Given the description of an element on the screen output the (x, y) to click on. 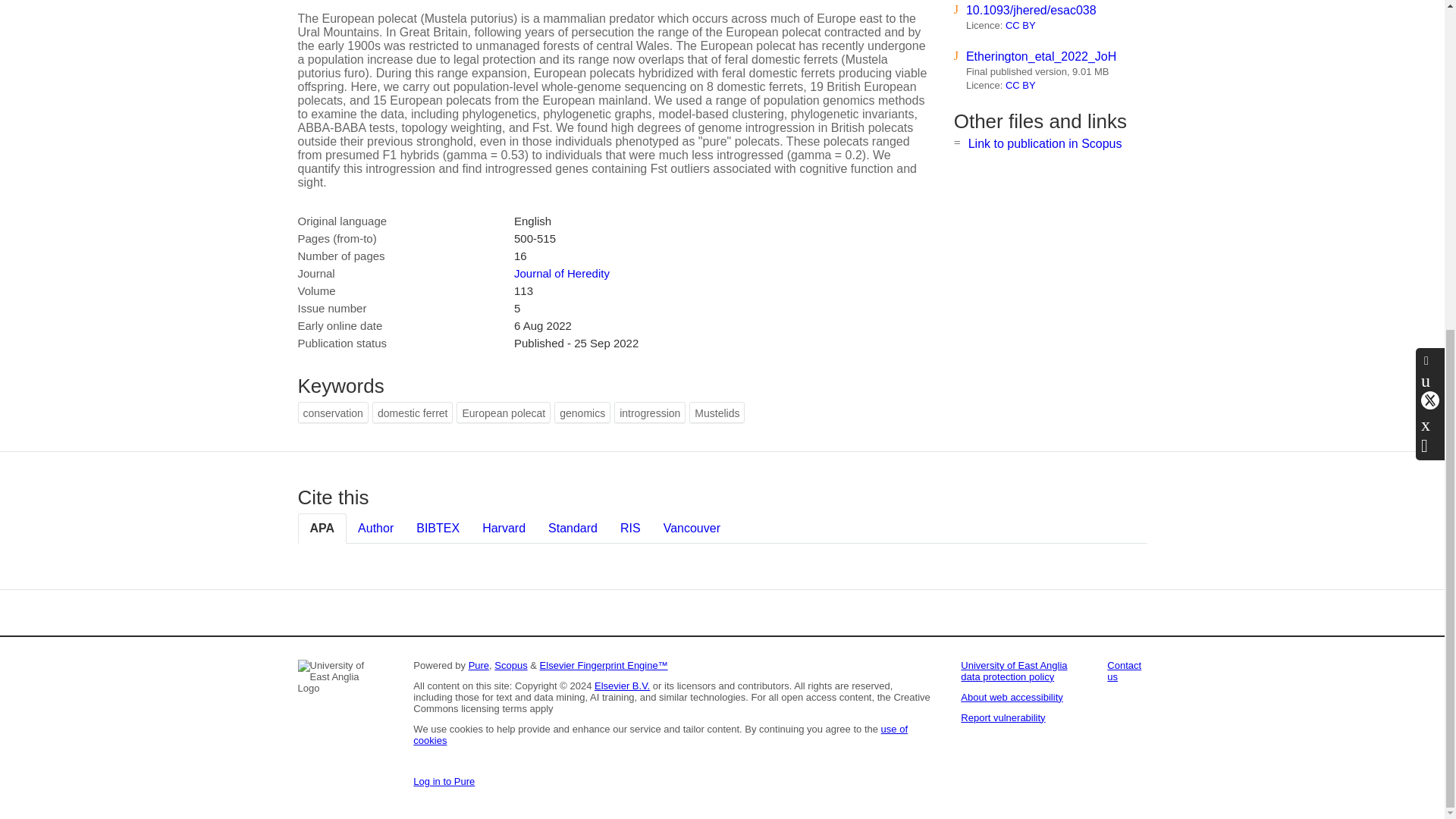
CC BY (1020, 25)
CC BY (1020, 84)
Journal of Heredity (561, 273)
Link to publication in Scopus (1045, 143)
